Given the description of an element on the screen output the (x, y) to click on. 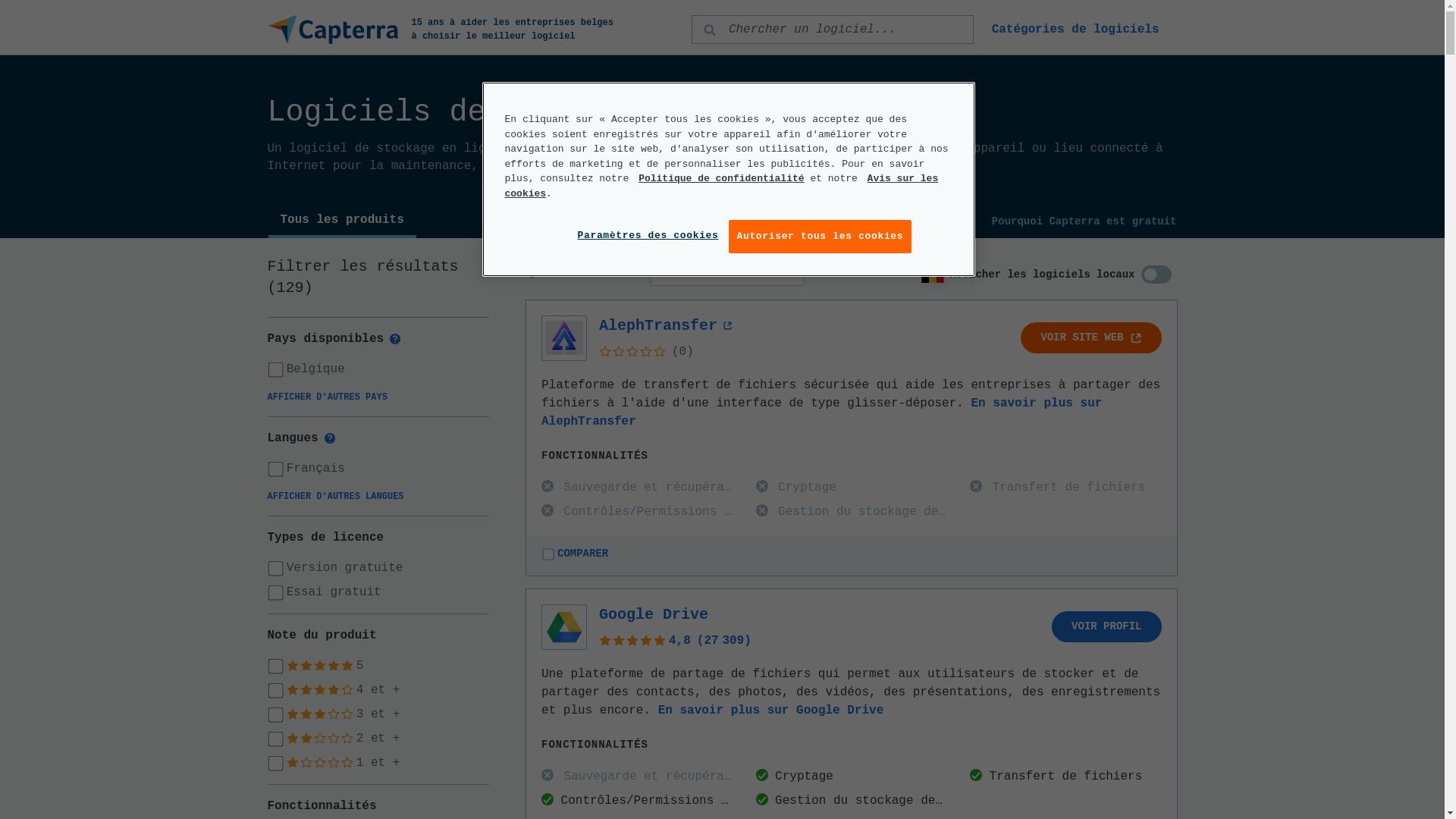
Google Drive Element type: text (653, 614)
Tous les produits Element type: text (342, 221)
Essai gratuit Element type: text (377, 592)
1 et + Element type: text (377, 762)
VOIR SITE WEB Element type: text (1090, 337)
AFFICHER D'AUTRES LANGUES Element type: text (334, 496)
Avis sur les cookies Element type: text (721, 185)
AlephTransfer Element type: text (665, 325)
En savoir plus sur Google Drive Element type: text (771, 710)
4 et + Element type: text (377, 689)
3 et + Element type: text (377, 714)
Pourquoi Capterra est gratuit Element type: text (1083, 221)
AFFICHER D'AUTRES PAYS Element type: text (326, 397)
Autoriser tous les cookies Element type: text (819, 236)
5 Element type: text (377, 665)
VOIR PROFIL Element type: text (1106, 626)
Belgique Element type: text (377, 369)
2 et + Element type: text (377, 738)
COMPARER Element type: text (574, 553)
En savoir plus sur AlephTransfer Element type: text (821, 412)
Version gratuite Element type: text (377, 567)
Lire la suite Element type: text (831, 165)
